Given the description of an element on the screen output the (x, y) to click on. 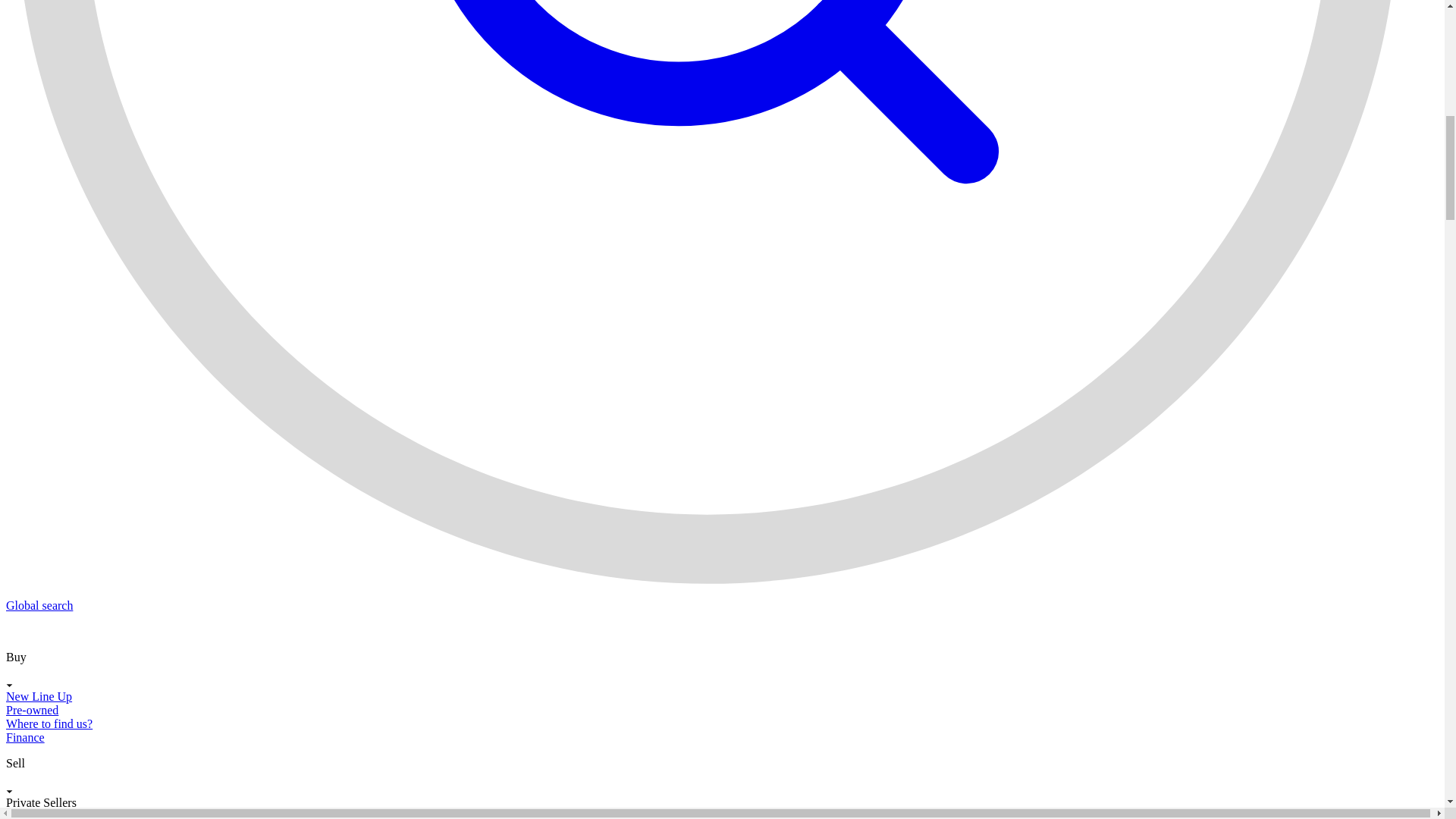
Consign Your Vehicle (58, 814)
Where to find us? (49, 723)
New Line Up (38, 696)
Finance (25, 737)
Pre-owned (31, 709)
